Given the description of an element on the screen output the (x, y) to click on. 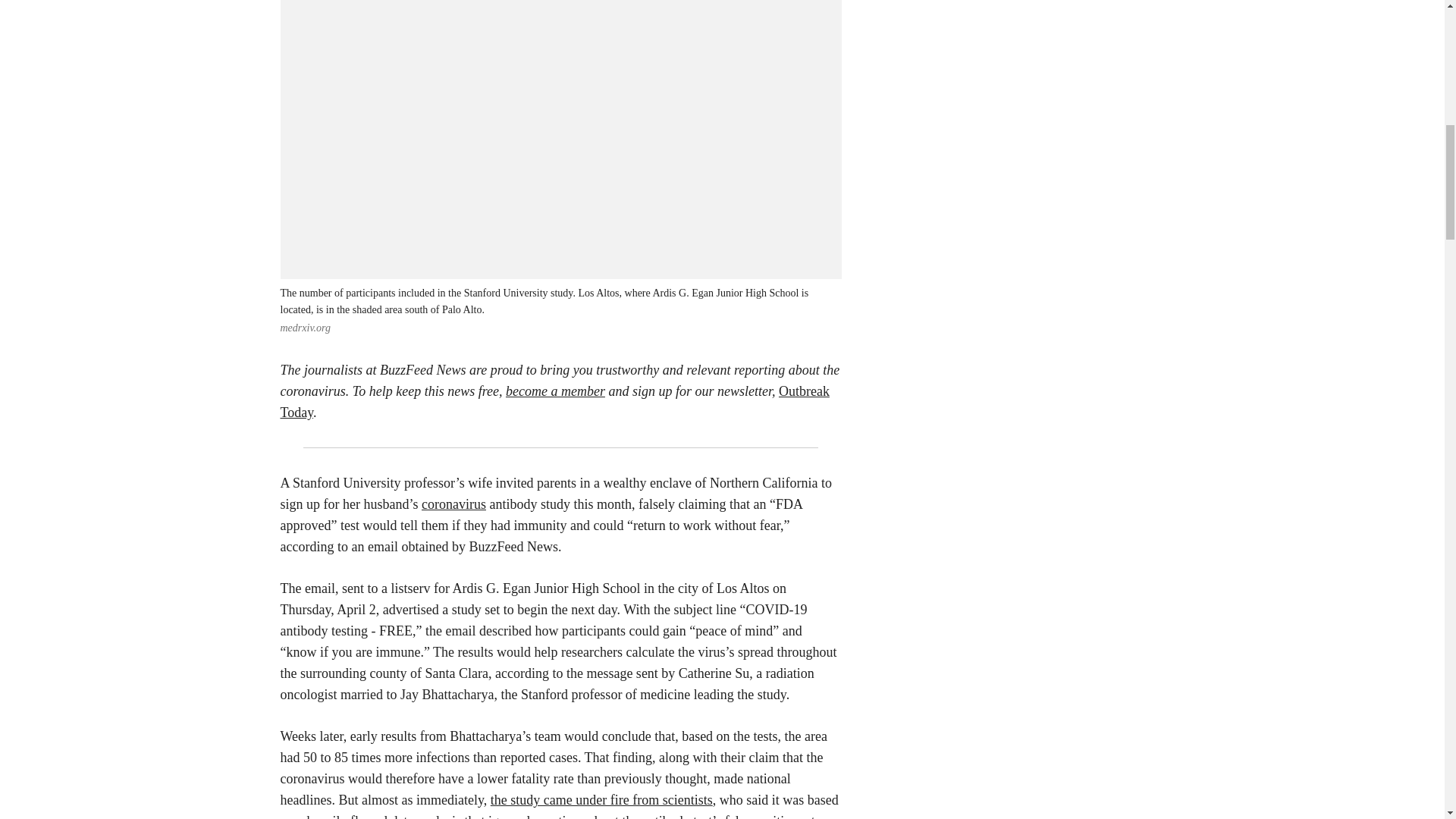
become a member (555, 391)
the study came under fire from scientists (601, 799)
Outbreak Today (555, 402)
coronavirus (454, 503)
medrxiv.org (305, 327)
